Given the description of an element on the screen output the (x, y) to click on. 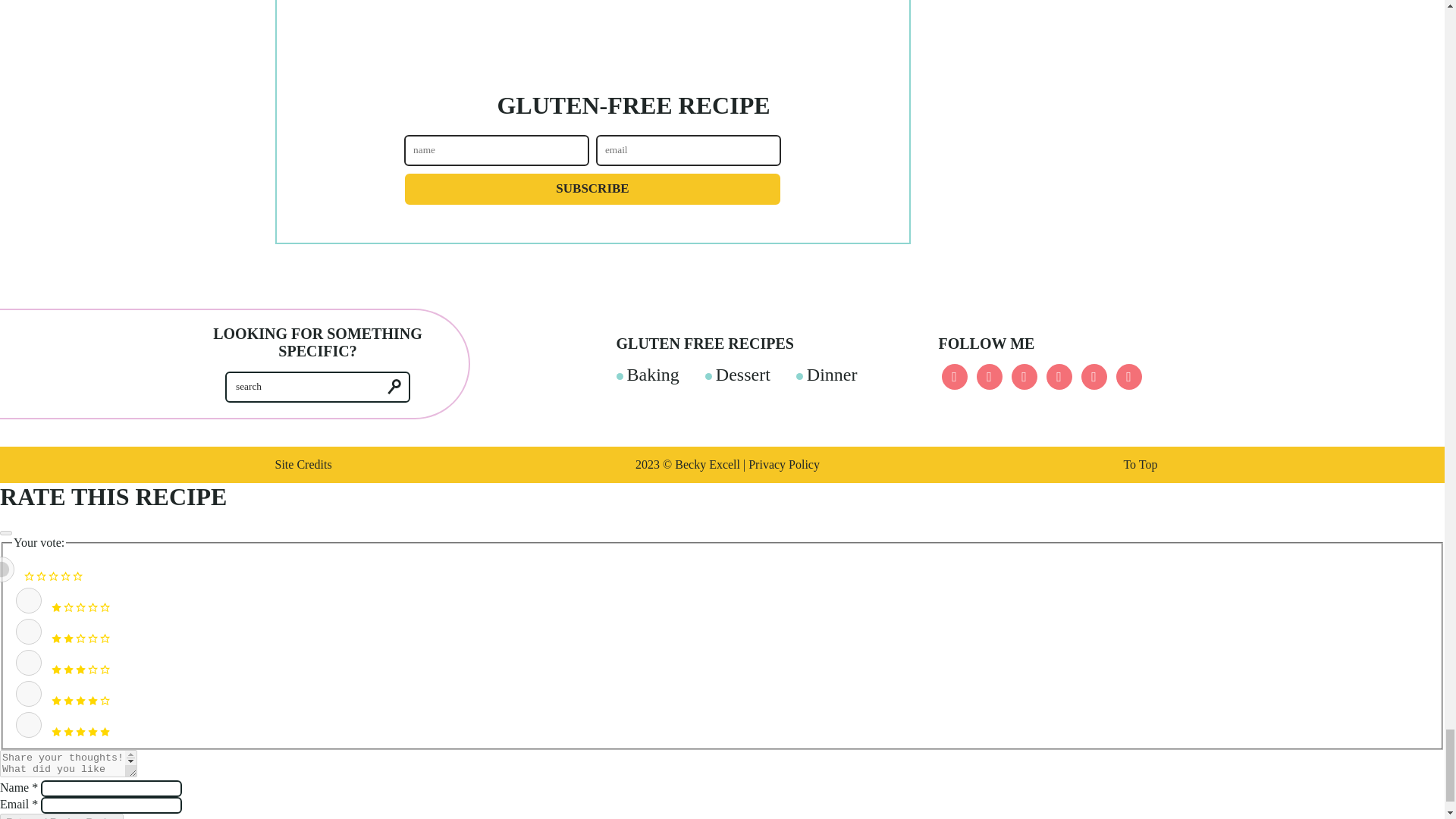
4 (29, 693)
2 (29, 631)
Facebook (955, 375)
5 (29, 724)
1 (29, 600)
3 (29, 662)
Subscribe (592, 188)
